Given the description of an element on the screen output the (x, y) to click on. 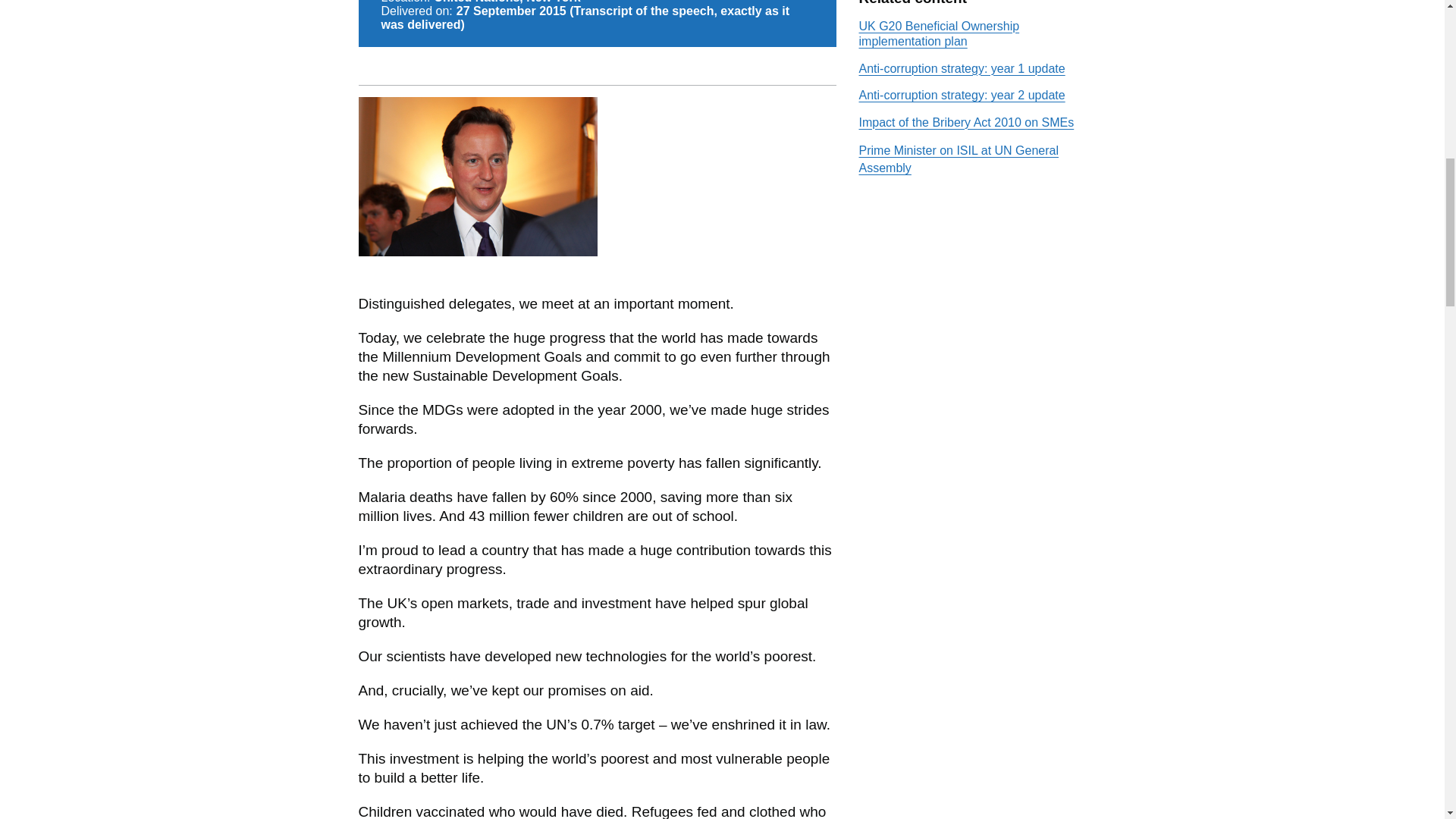
Anti-corruption strategy: year 2 update (961, 94)
Impact of the Bribery Act 2010 on SMEs (966, 122)
Anti-corruption strategy: year 1 update (961, 68)
Prime Minister on ISIL at UN General Assembly (958, 159)
UK G20 Beneficial Ownership implementation plan (939, 33)
